Given the description of an element on the screen output the (x, y) to click on. 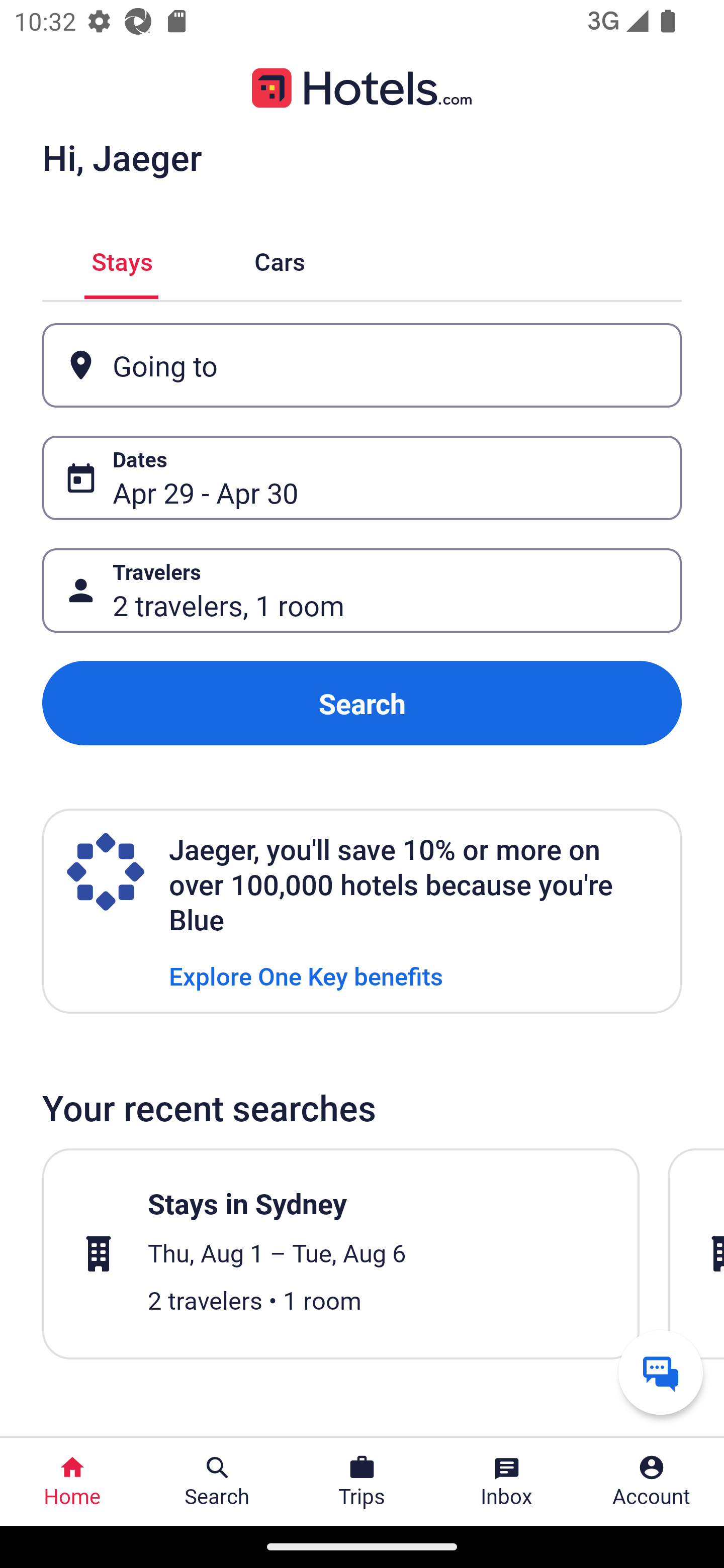
Hi, Jaeger (121, 156)
Cars (279, 259)
Going to Button (361, 365)
Dates Button Apr 29 - Apr 30 (361, 477)
Travelers Button 2 travelers, 1 room (361, 590)
Search (361, 702)
Get help from a virtual agent (660, 1371)
Search Search Button (216, 1481)
Trips Trips Button (361, 1481)
Inbox Inbox Button (506, 1481)
Account Profile. Button (651, 1481)
